Given the description of an element on the screen output the (x, y) to click on. 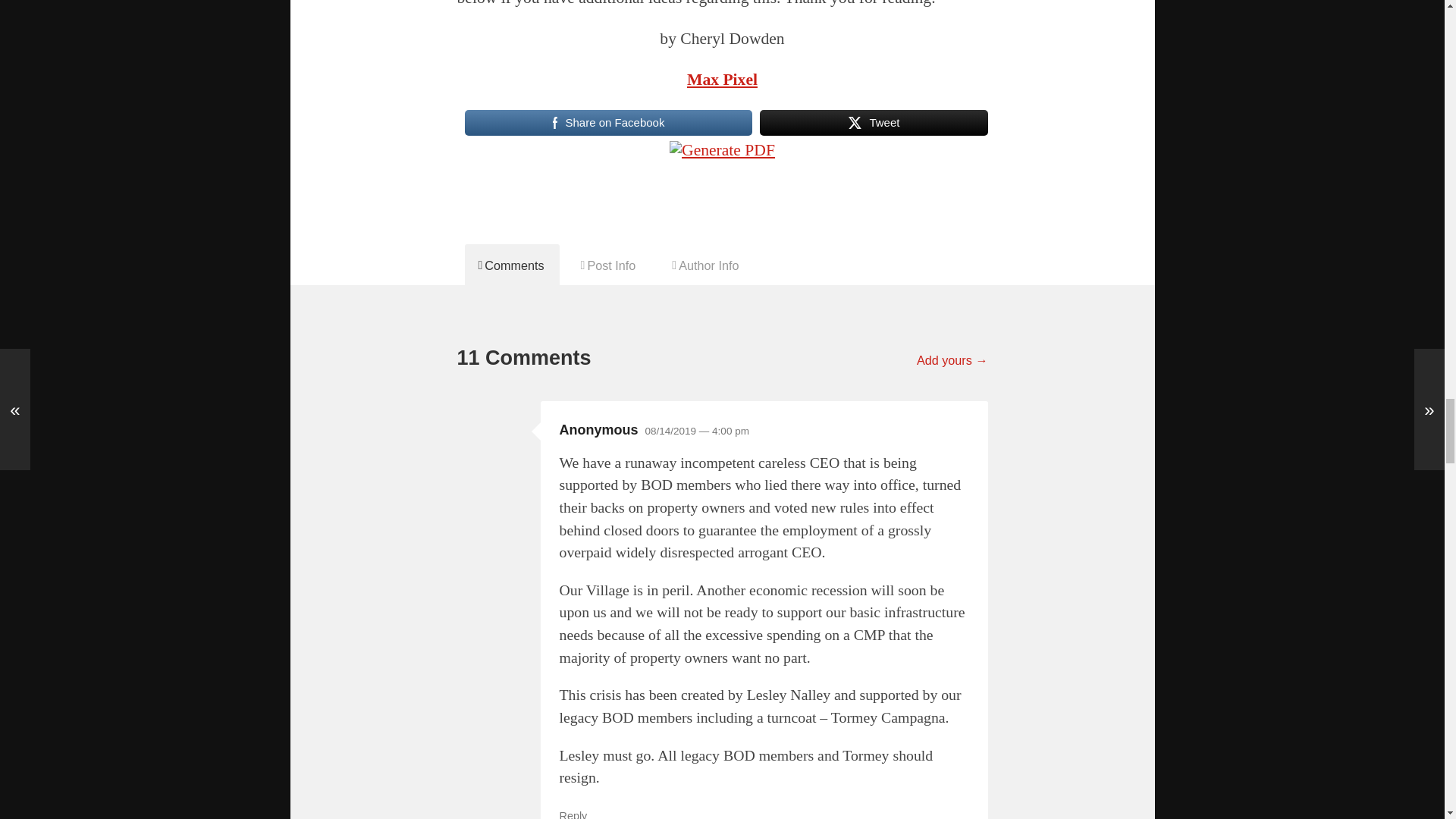
Generate PDF (721, 157)
